Given the description of an element on the screen output the (x, y) to click on. 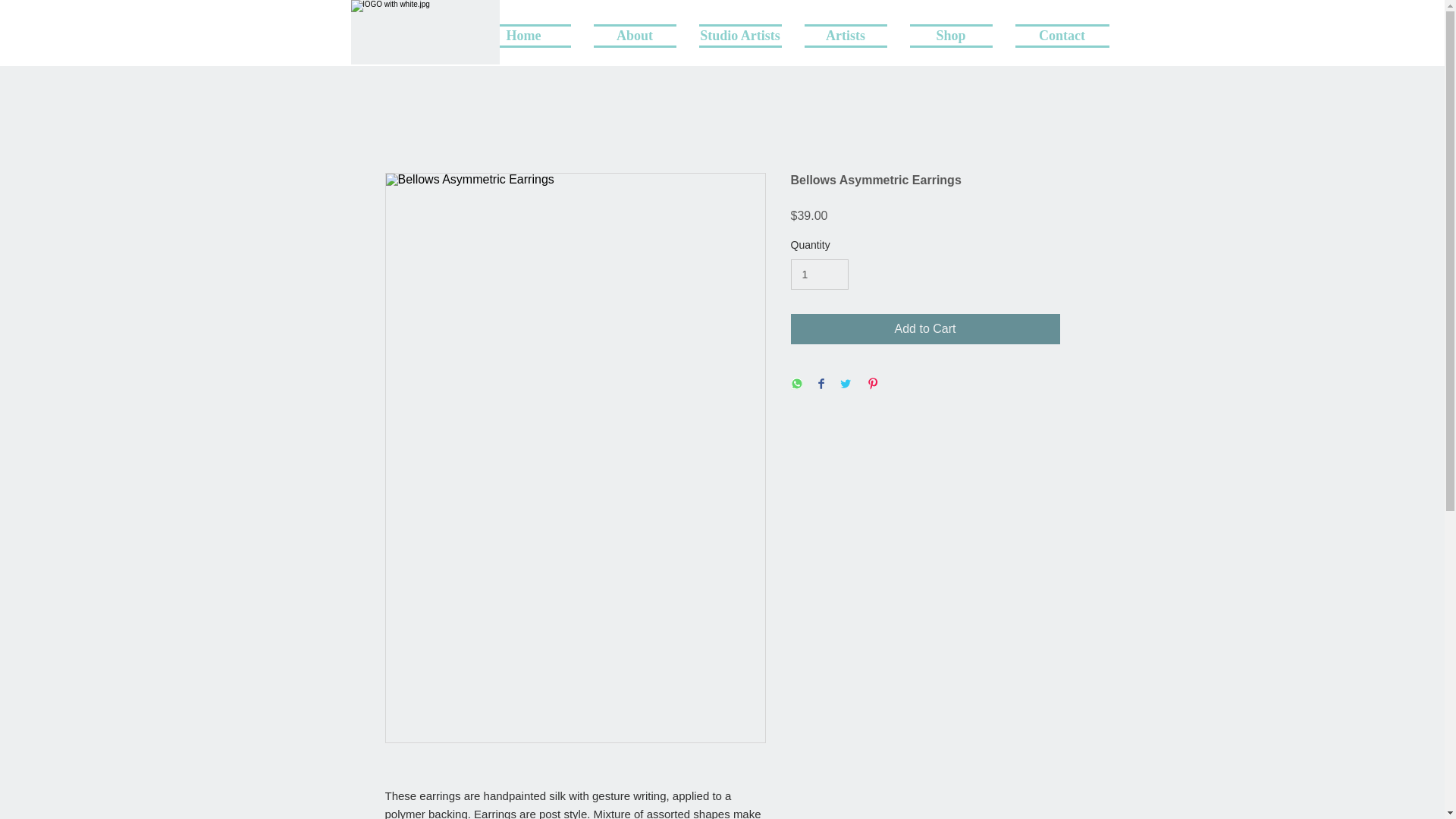
Add to Cart (924, 328)
About (634, 33)
Artists (845, 33)
Shop (950, 33)
1 (818, 274)
Home (528, 33)
Studio Artists (739, 33)
Contact (1056, 33)
